Given the description of an element on the screen output the (x, y) to click on. 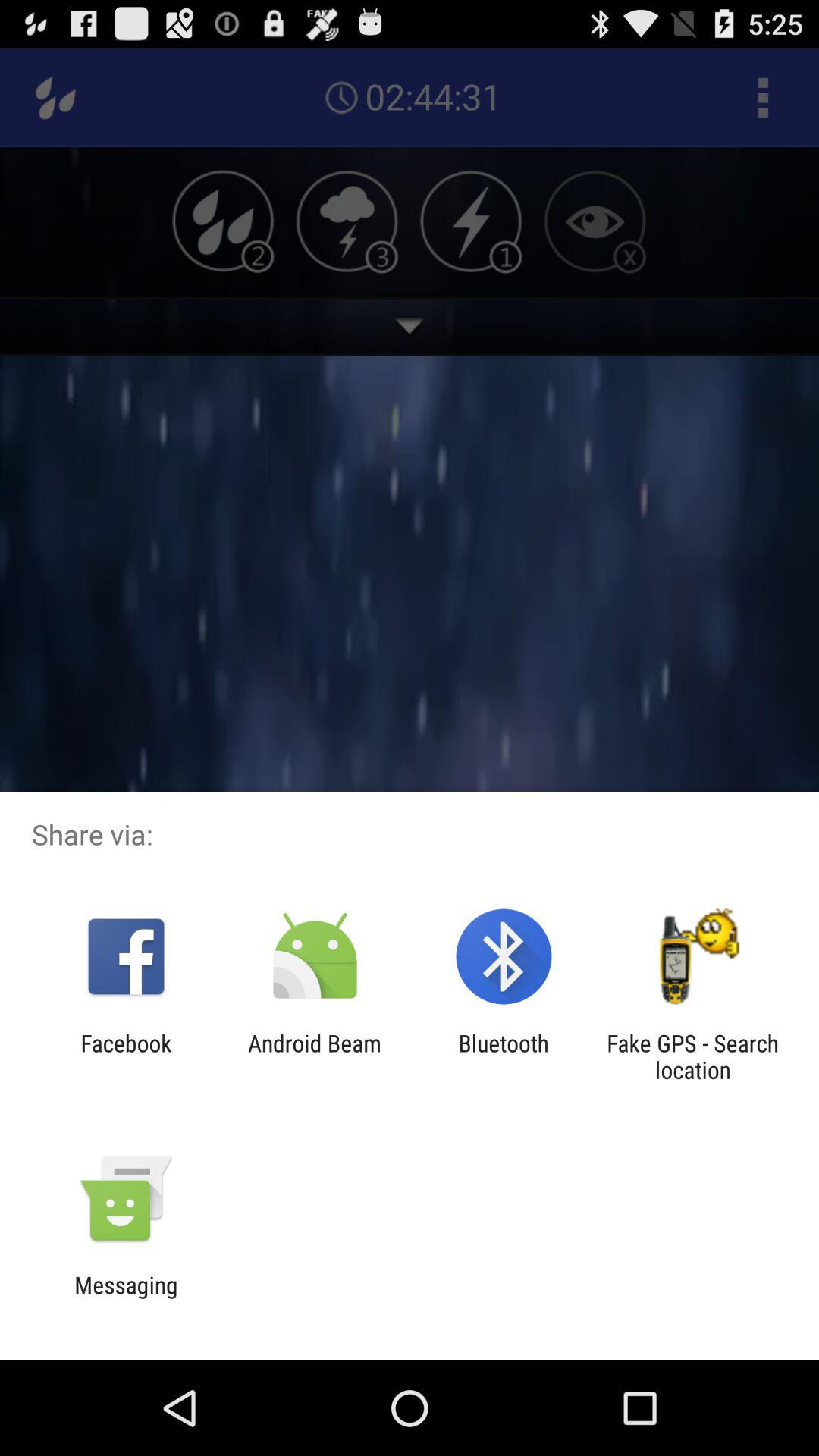
tap the app to the left of the android beam icon (125, 1056)
